Given the description of an element on the screen output the (x, y) to click on. 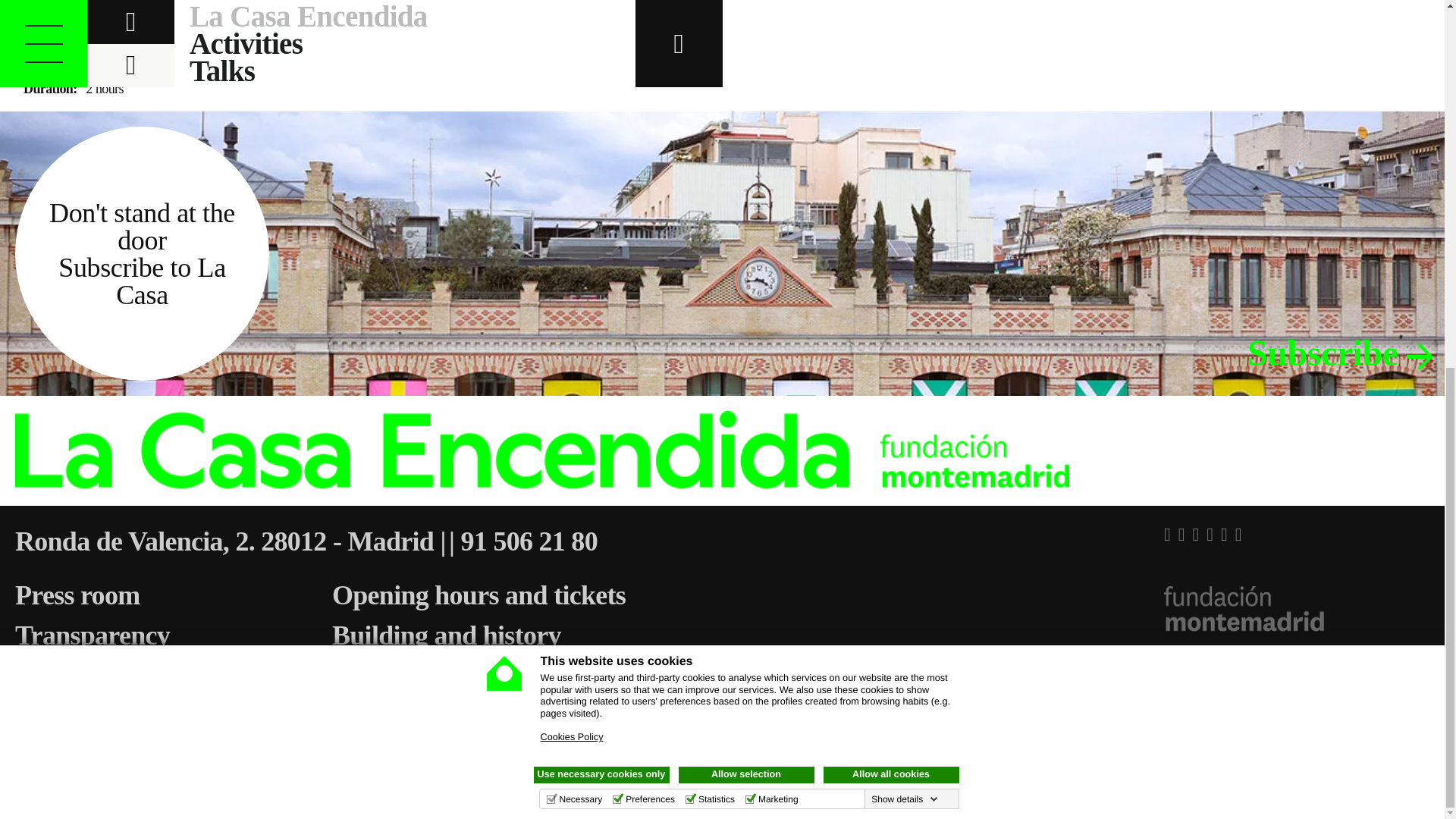
Cookies Policy (571, 72)
Show details (903, 134)
Use necessary cookies only (601, 110)
Allow all cookies (891, 110)
Allow selection (745, 110)
